Given the description of an element on the screen output the (x, y) to click on. 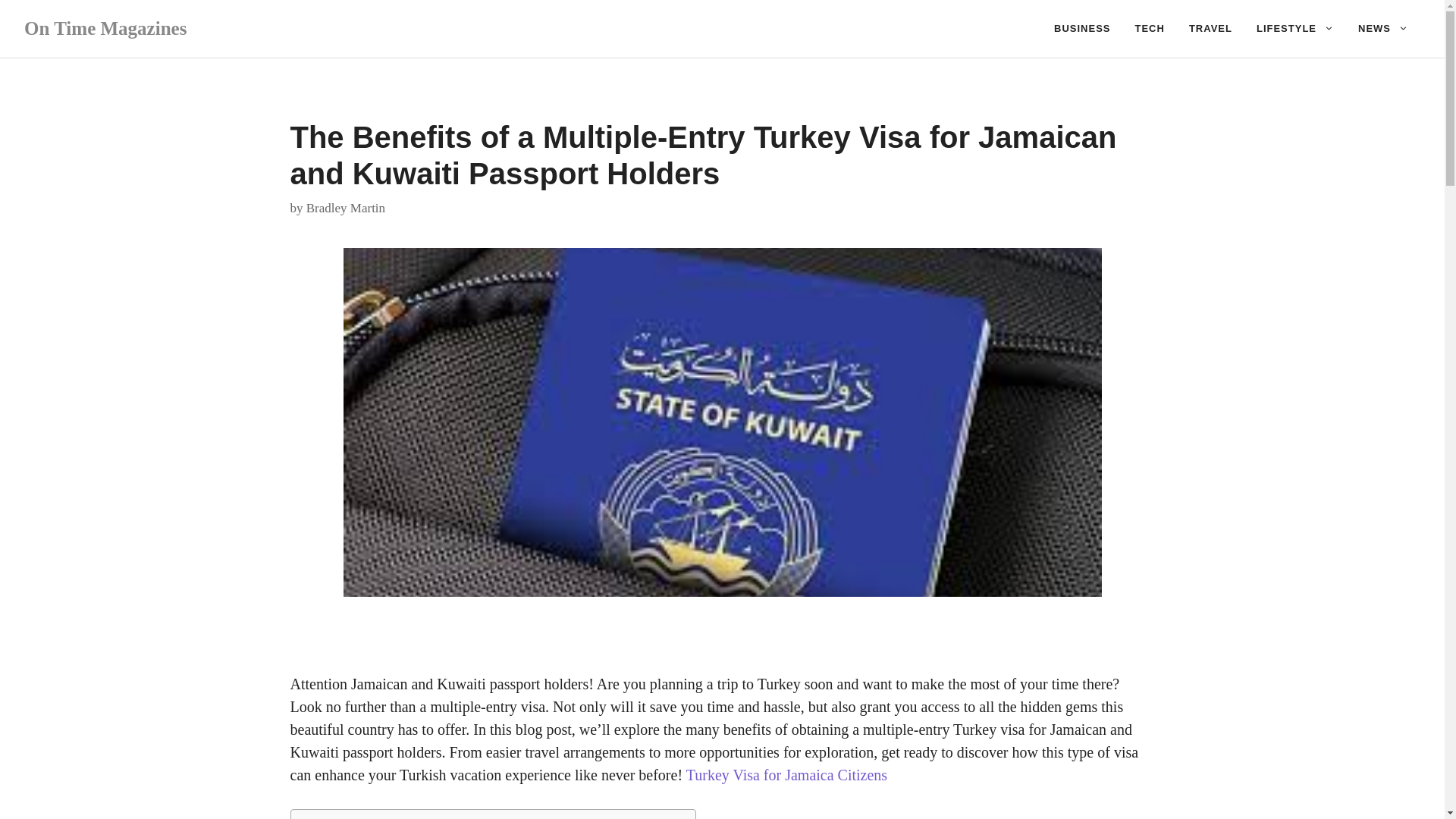
NEWS (1383, 28)
Bradley Martin (345, 206)
TRAVEL (1210, 28)
TECH (1149, 28)
On Time Magazines (105, 28)
BUSINESS (1082, 28)
Turkey Visa for Jamaica Citizens (785, 774)
View all posts by Bradley Martin (345, 206)
LIFESTYLE (1294, 28)
